Given the description of an element on the screen output the (x, y) to click on. 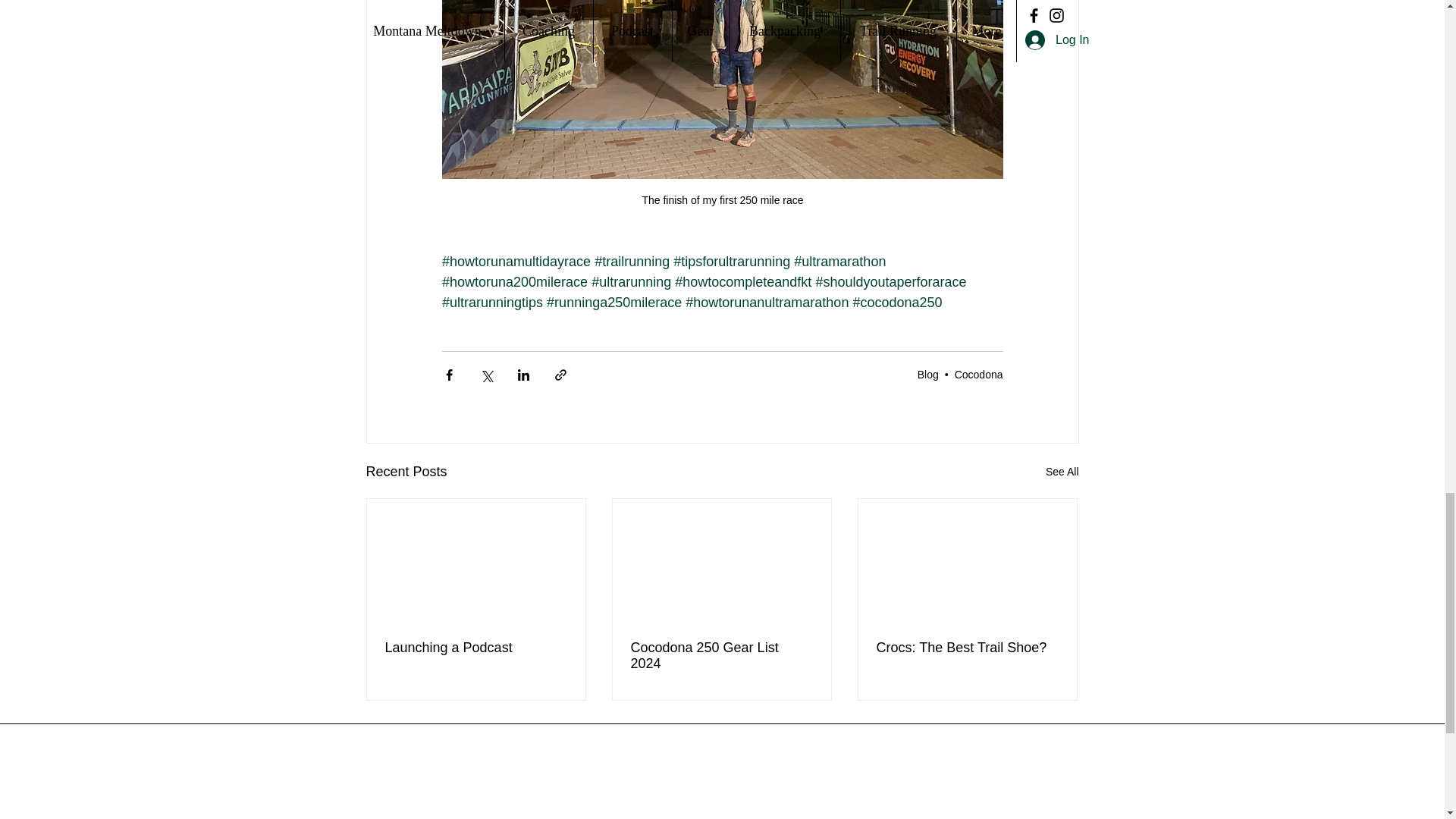
See All (1061, 472)
Cocodona (979, 374)
Launching a Podcast (476, 647)
Blog (928, 374)
